Given the description of an element on the screen output the (x, y) to click on. 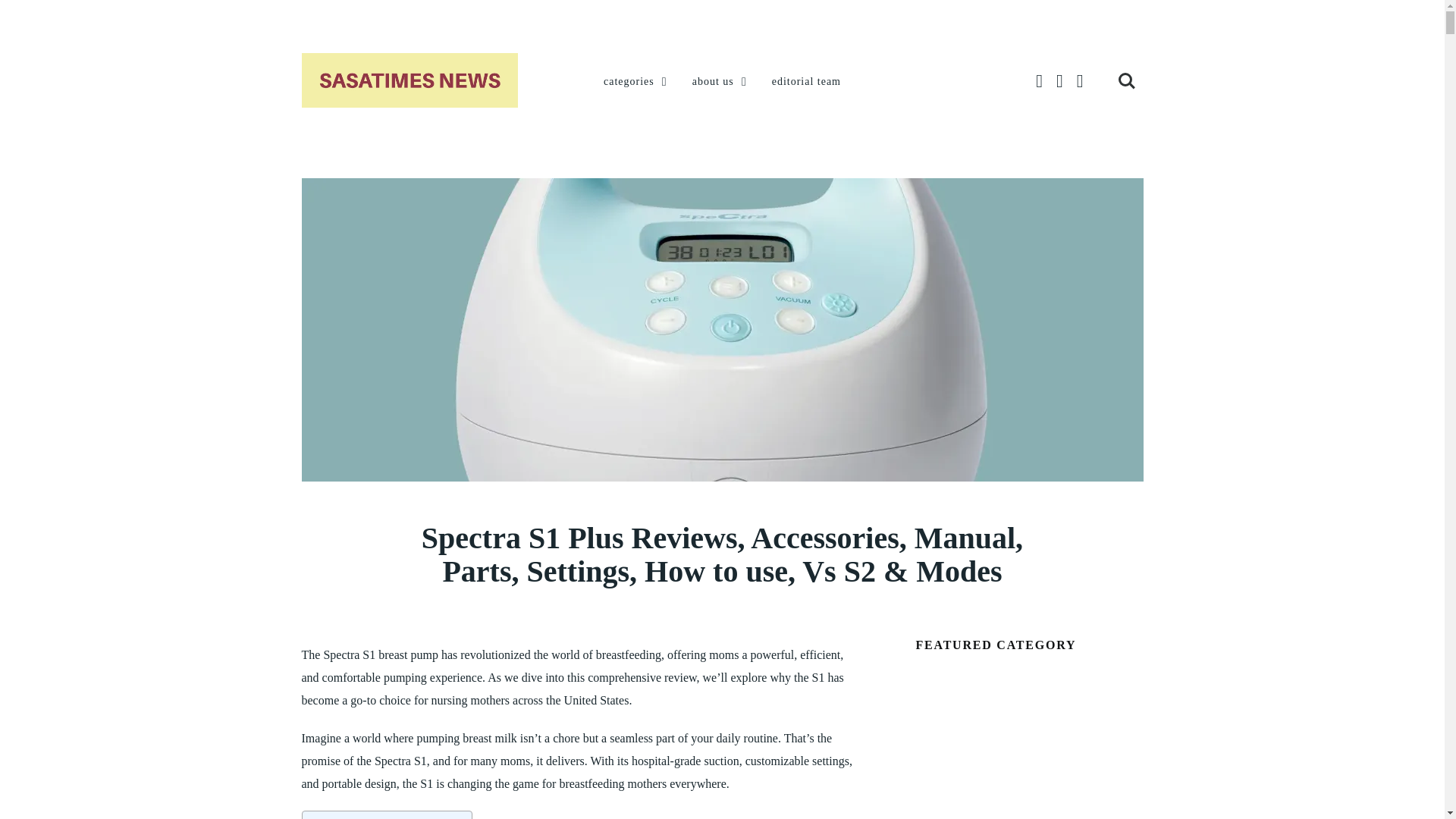
categories (636, 81)
about us (721, 81)
editorial team (806, 81)
